Given the description of an element on the screen output the (x, y) to click on. 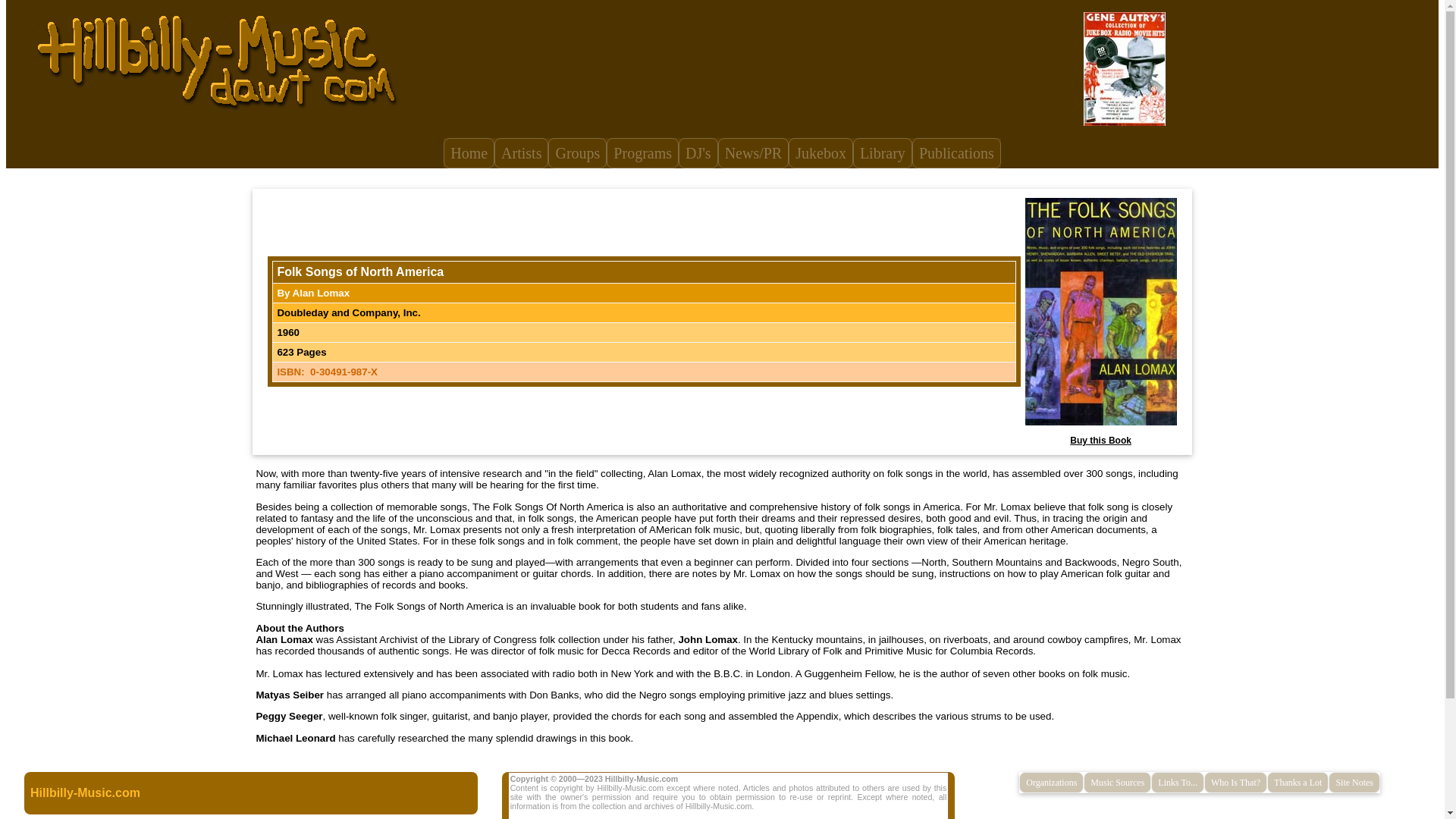
Organizations (1051, 782)
Library (882, 153)
Publications (956, 153)
Buy this Book (1100, 439)
Home (469, 153)
Groups (577, 153)
Programs (642, 153)
Music Sources (1117, 782)
Jukebox (821, 153)
Artists (521, 153)
